Given the description of an element on the screen output the (x, y) to click on. 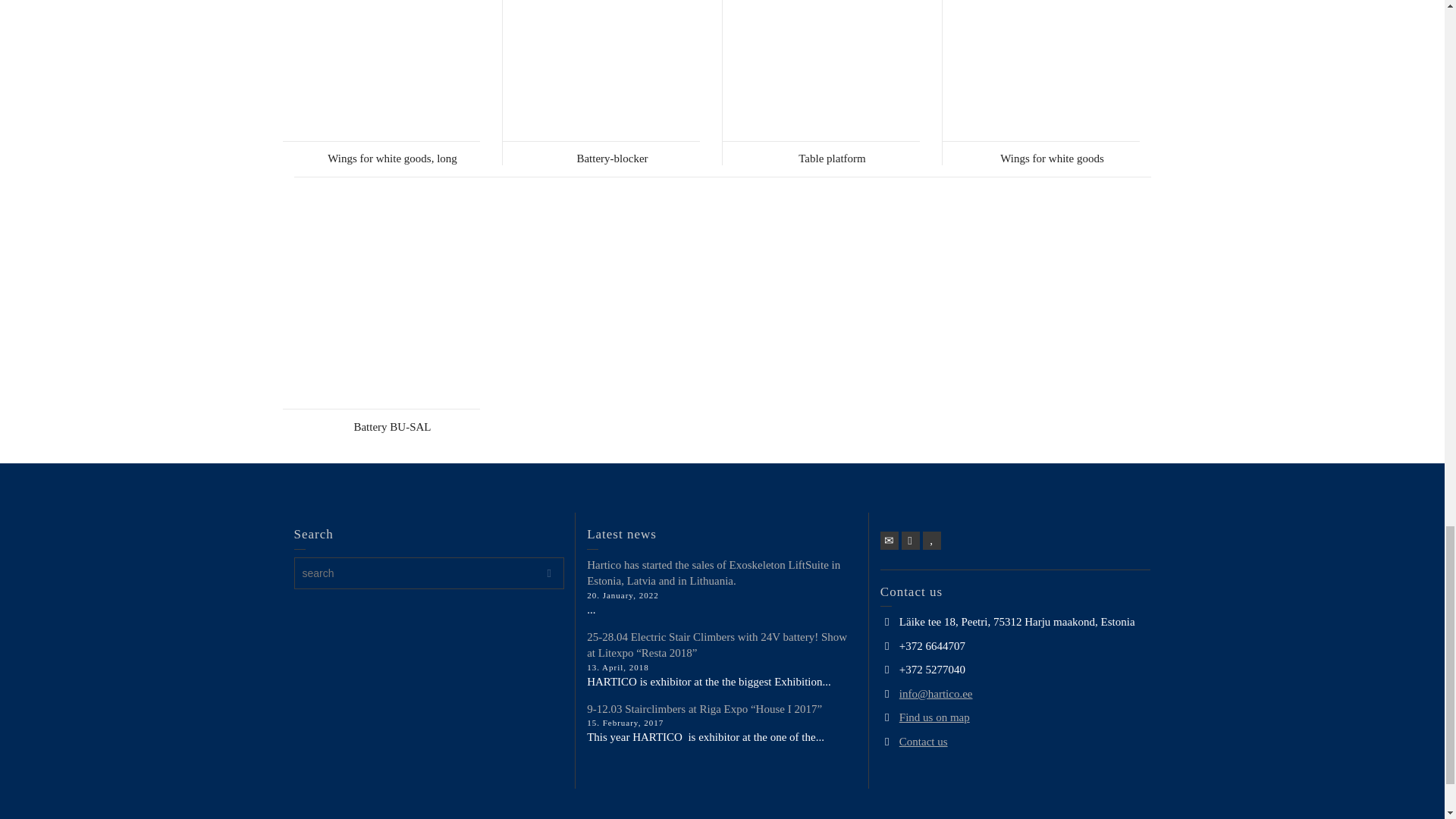
Facebook (910, 540)
Find us on map (934, 717)
Email (889, 540)
YouTube (931, 540)
